Given the description of an element on the screen output the (x, y) to click on. 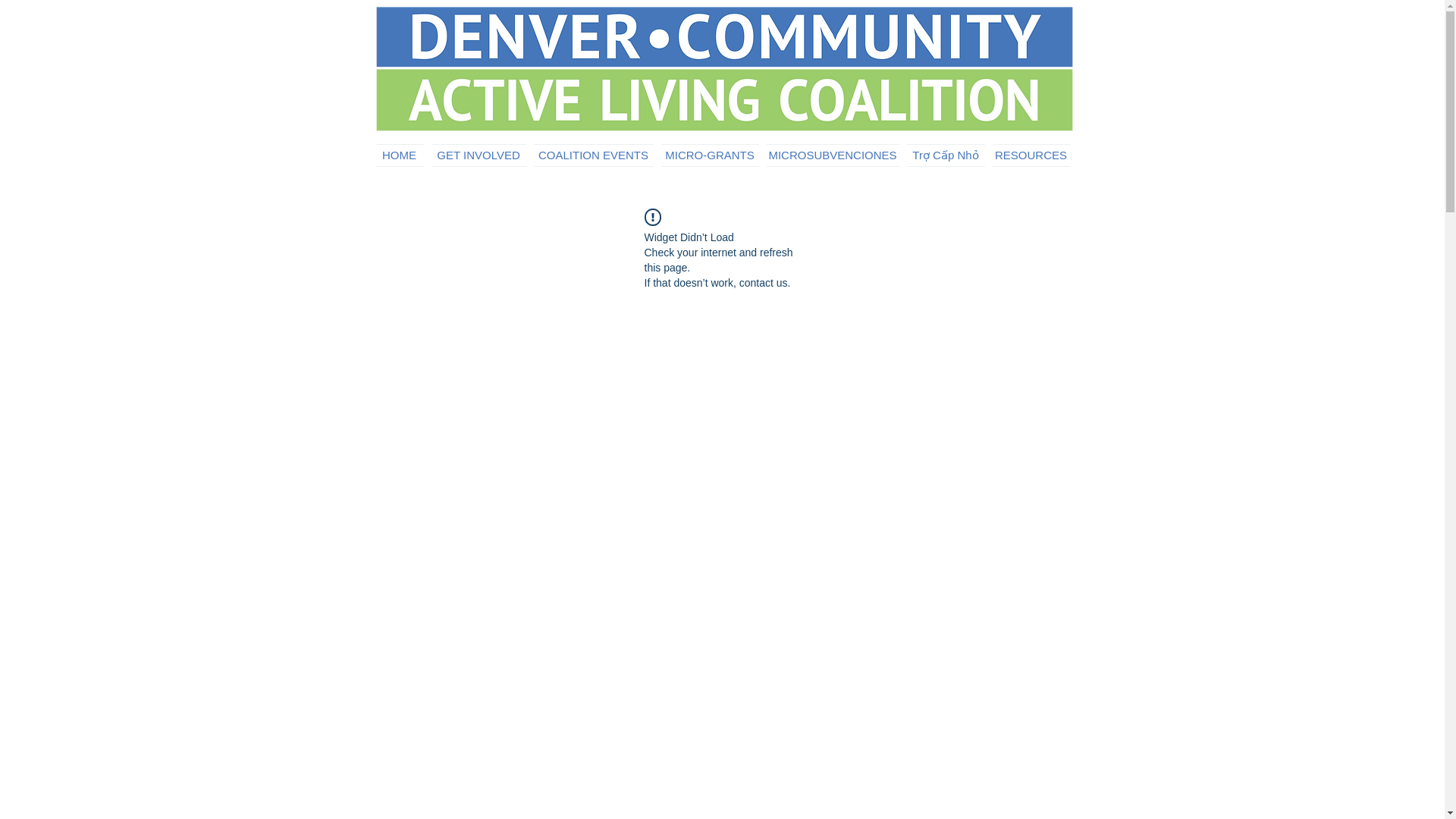
! (653, 217)
GET INVOLVED (478, 155)
RESOURCES (1029, 155)
MICRO-GRANTS (708, 155)
HOME (400, 155)
MICROSUBVENCIONES (832, 155)
CALC logo LONG.png (725, 67)
COALITION EVENTS (592, 155)
